Given the description of an element on the screen output the (x, y) to click on. 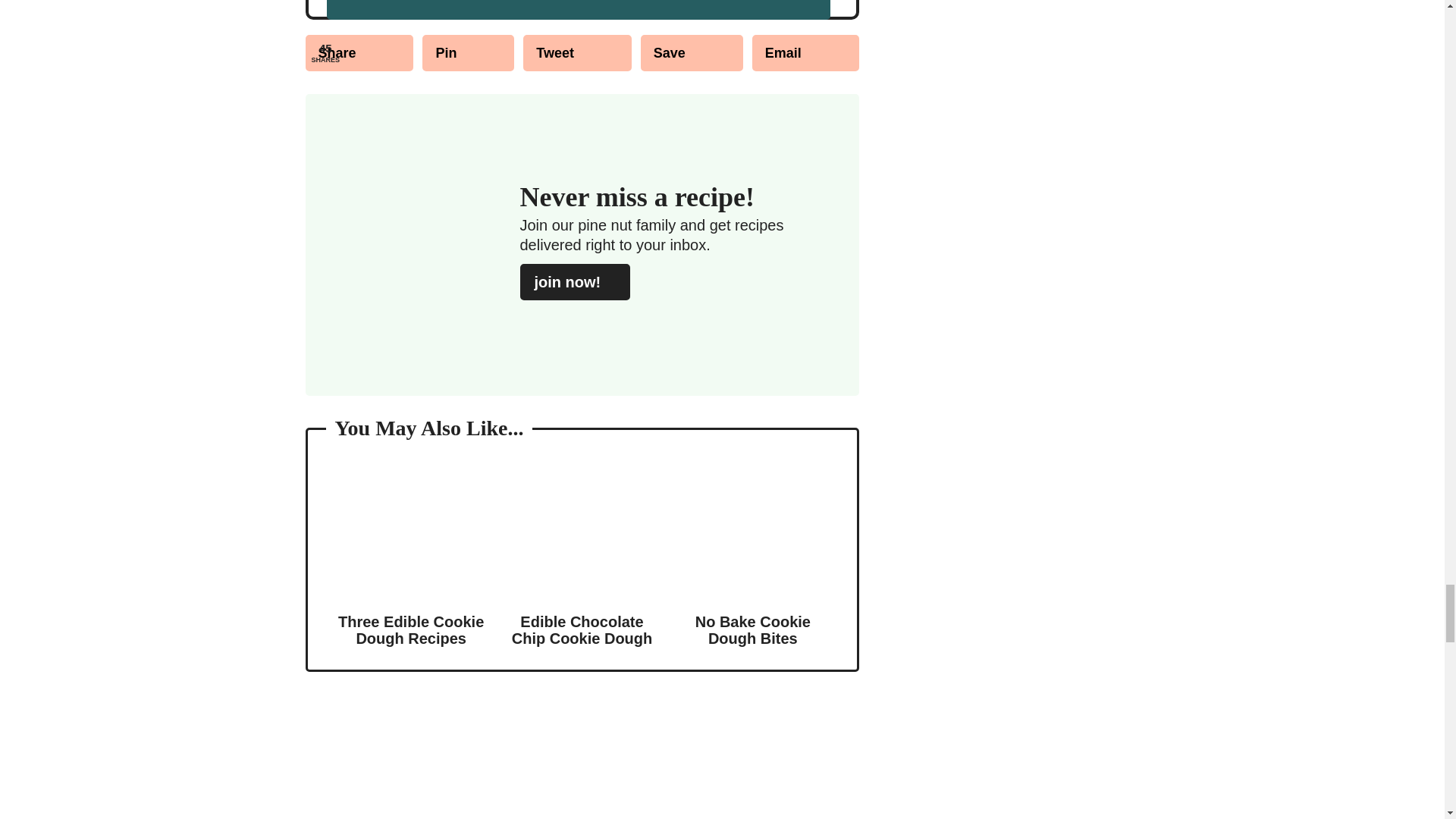
Send over email (805, 53)
Share on X (576, 53)
Share on Facebook (358, 53)
Save to Pinterest (467, 53)
Share on Yummly (691, 53)
